Given the description of an element on the screen output the (x, y) to click on. 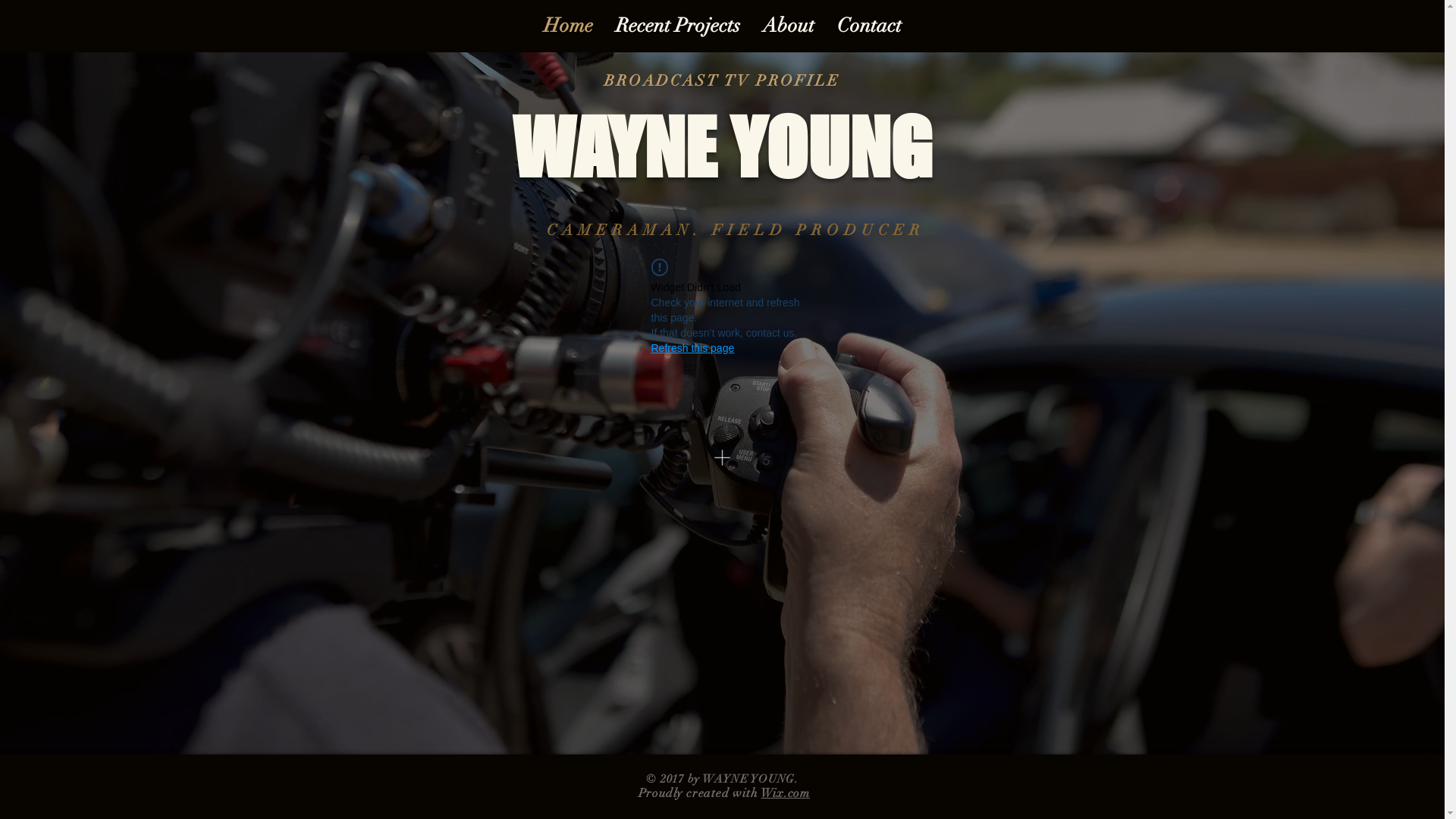
About Element type: text (787, 25)
Wix.com Element type: text (785, 792)
Home Element type: text (568, 25)
Recent Projects Element type: text (676, 25)
Refresh this page Element type: text (692, 347)
Contact Element type: text (868, 25)
